Given the description of an element on the screen output the (x, y) to click on. 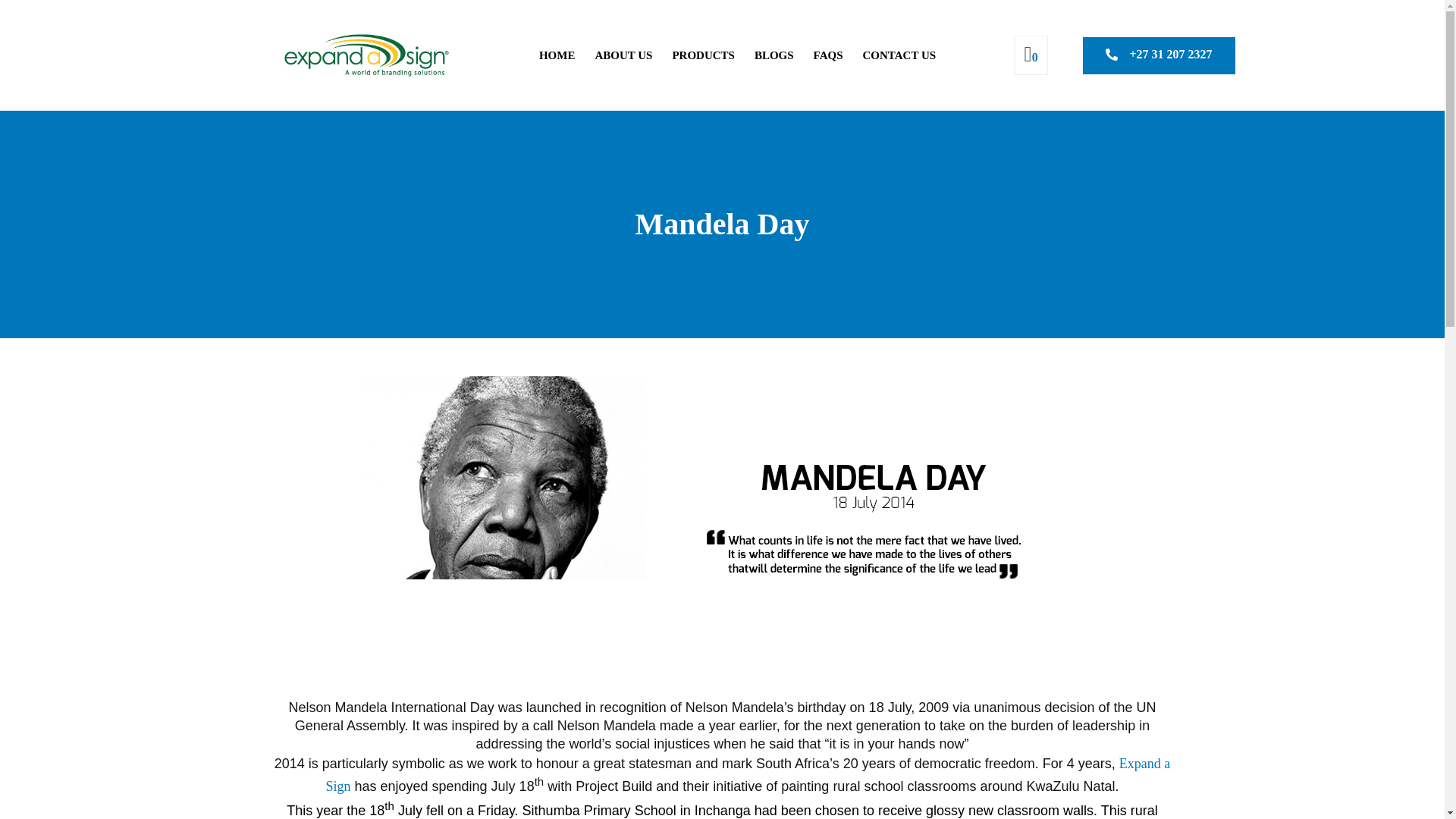
ABOUT US (623, 54)
FAQS (828, 54)
Expand a Sign (747, 774)
CONTACT US (899, 54)
BLOGS (773, 54)
PRODUCTS (703, 54)
HOME (557, 54)
0 (1029, 56)
